Given the description of an element on the screen output the (x, y) to click on. 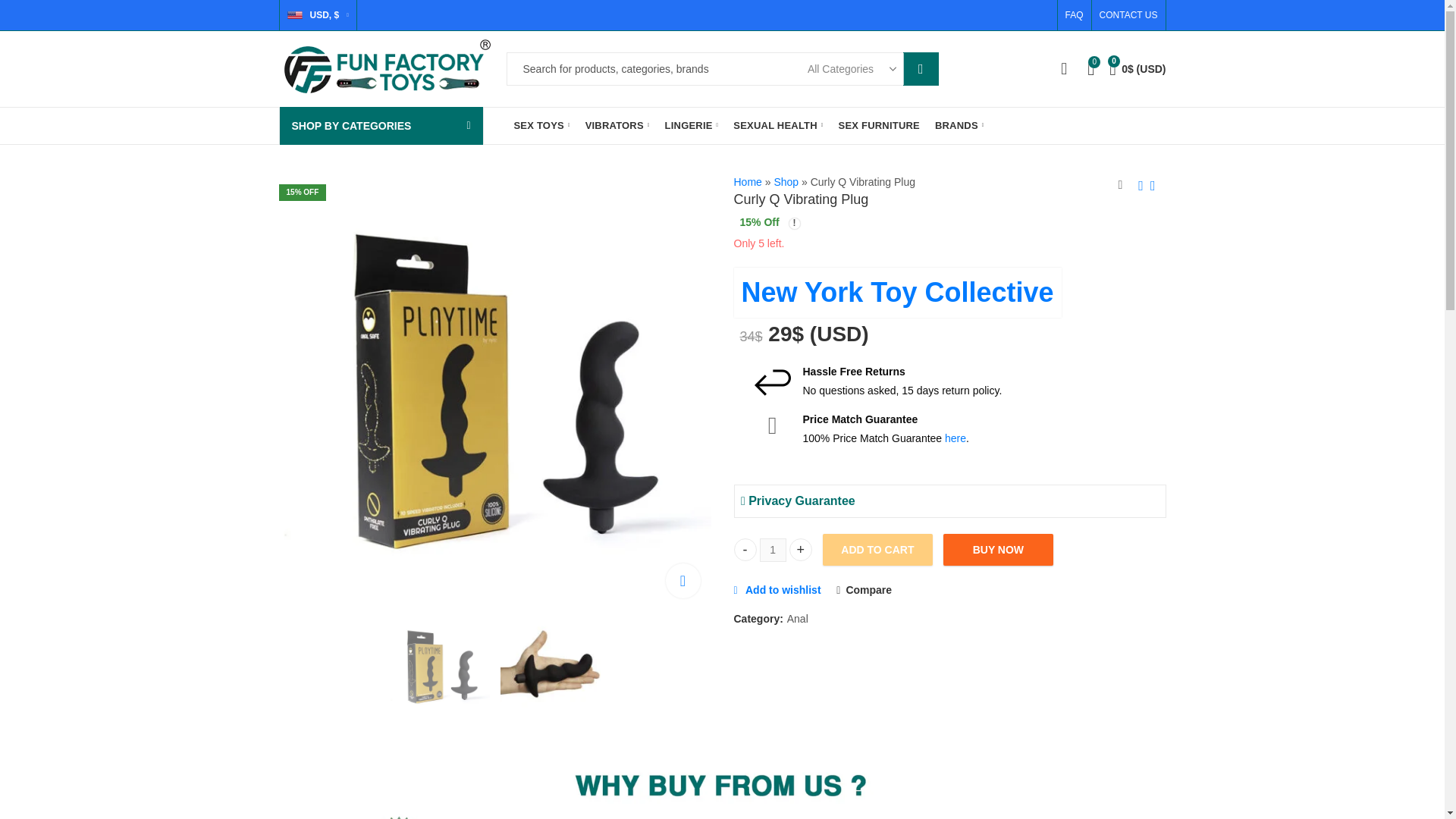
CONTACT US (1124, 15)
SEX TOYS (542, 125)
SEARCH (920, 68)
1 (773, 549)
- (745, 549)
